Given the description of an element on the screen output the (x, y) to click on. 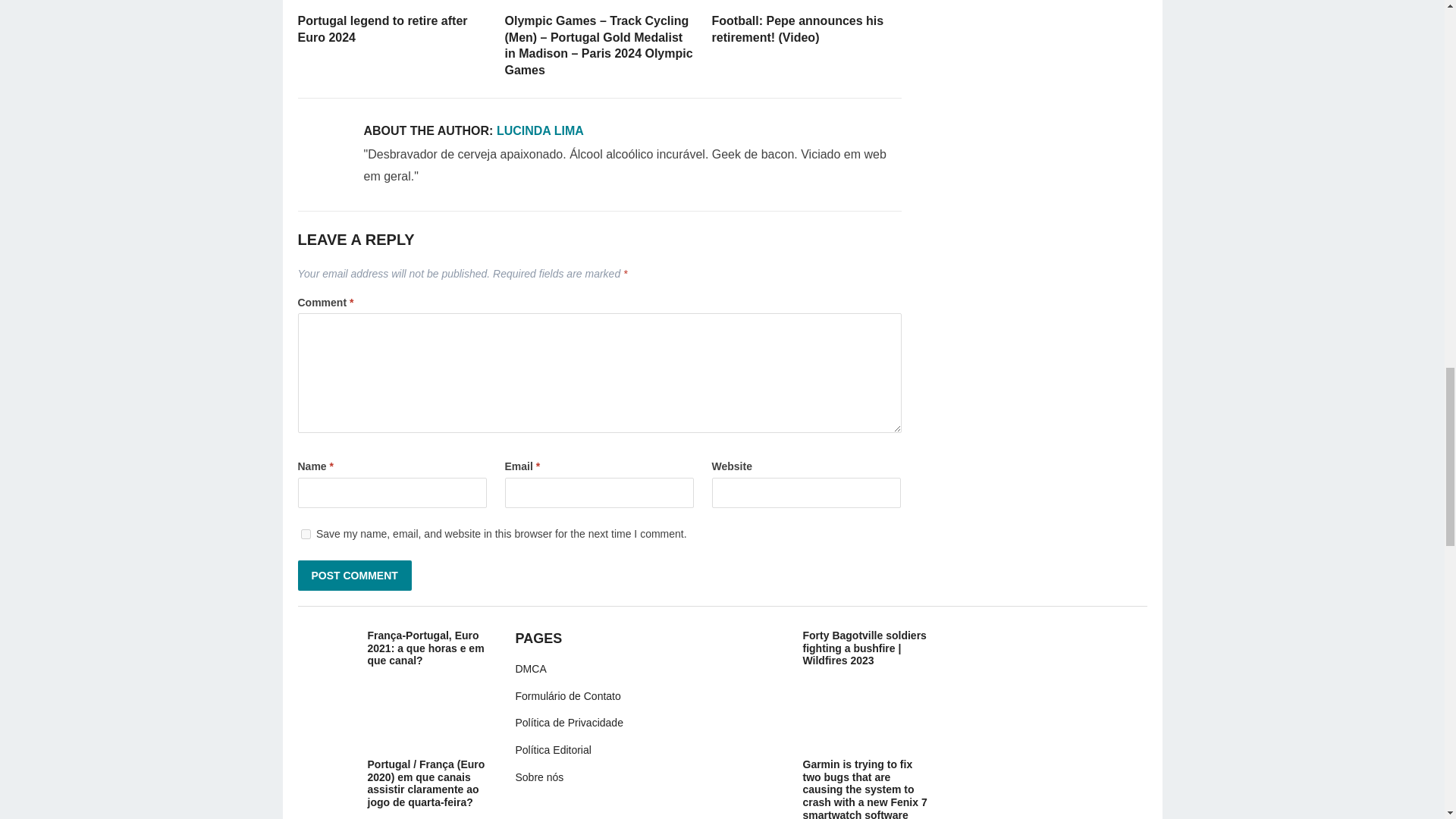
Portugal legend to retire after Euro 2024 (391, 2)
Post Comment (353, 575)
yes (304, 533)
